Given the description of an element on the screen output the (x, y) to click on. 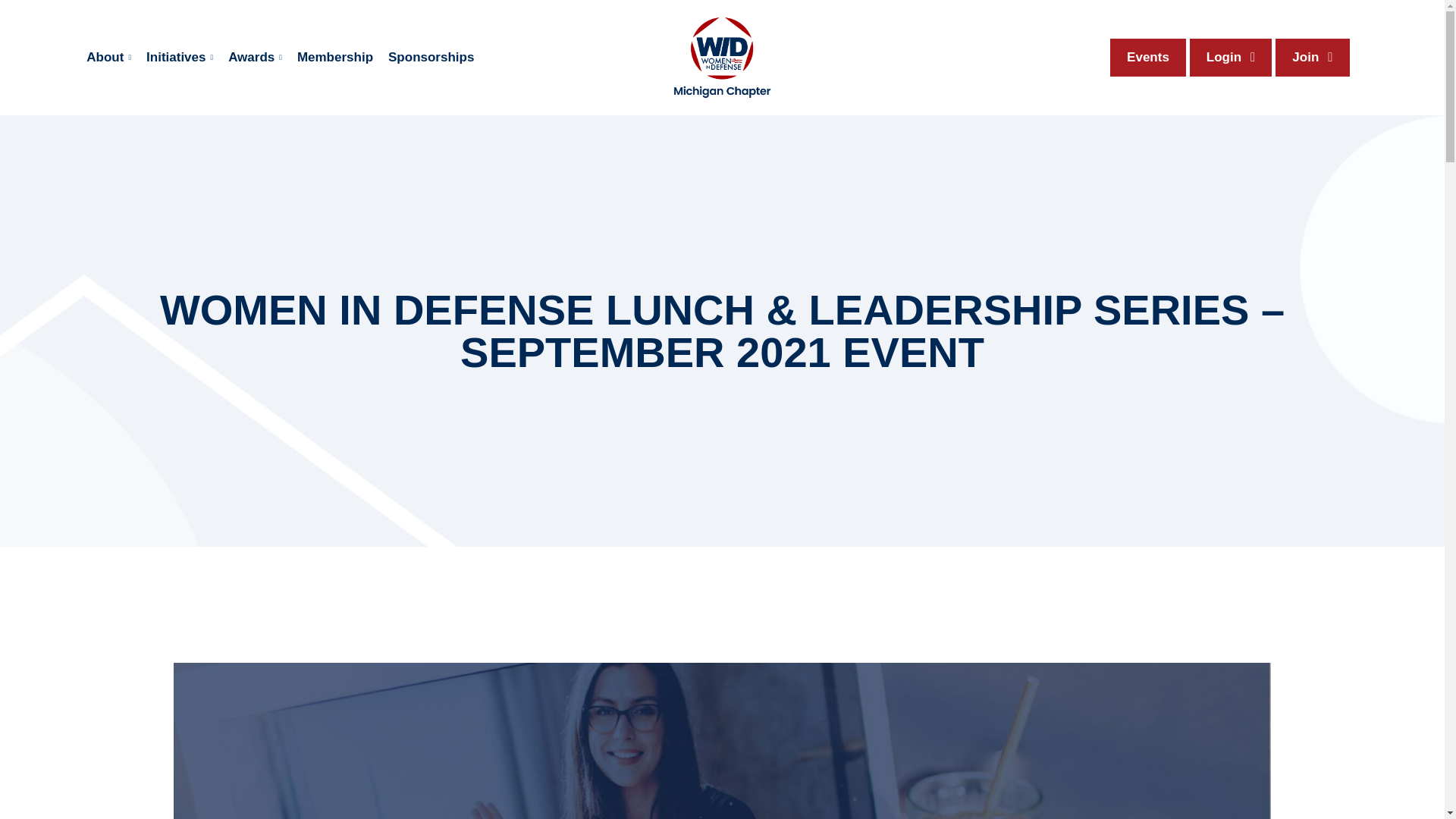
Membership (334, 57)
Initiatives (179, 57)
Sponsorships (431, 57)
About (108, 57)
Awards (255, 57)
